Given the description of an element on the screen output the (x, y) to click on. 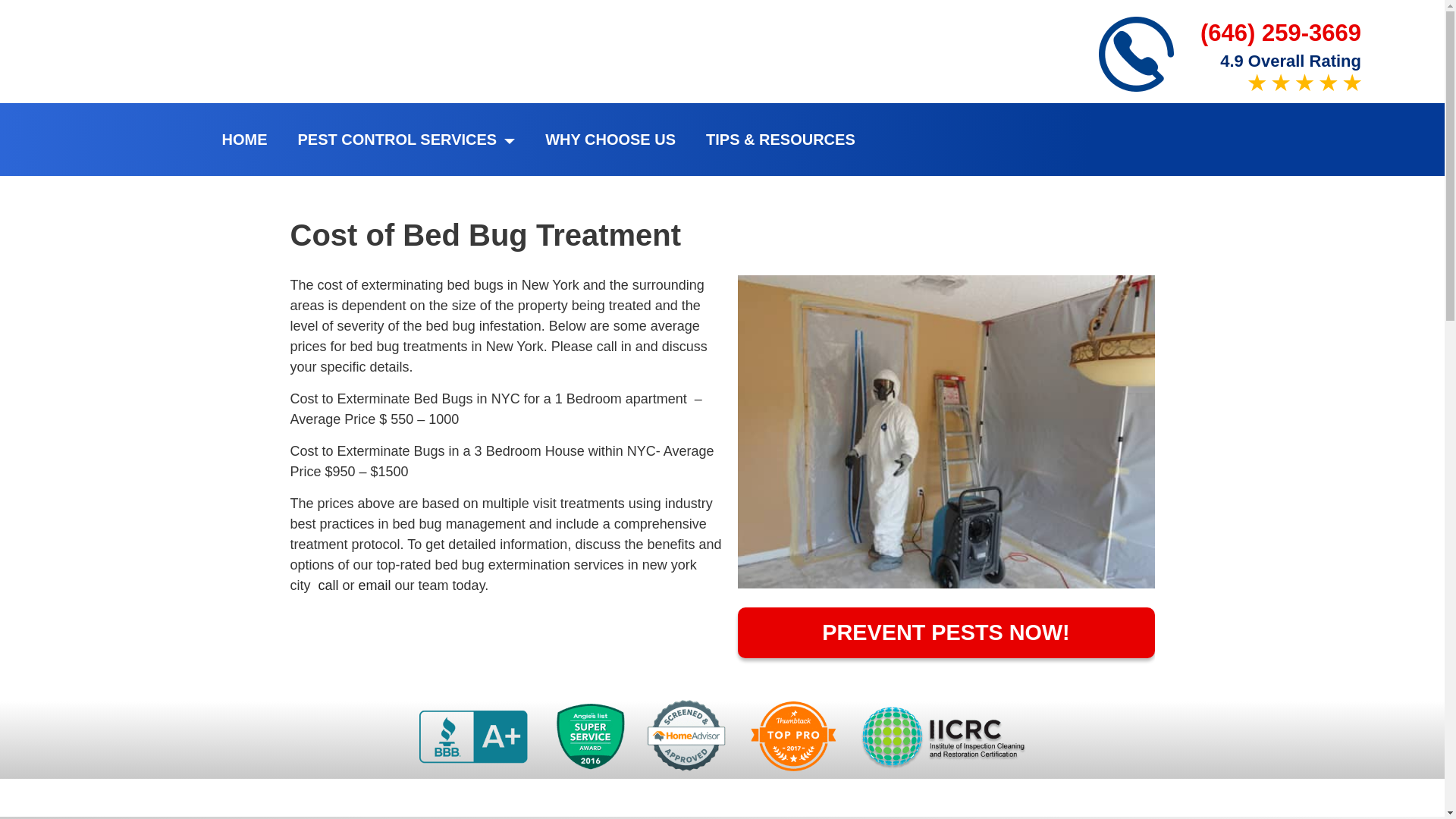
email (374, 585)
HOME (243, 139)
WHY CHOOSE US (609, 139)
PREVENT PESTS NOW! (945, 631)
call (328, 585)
PEST CONTROL SERVICES (406, 139)
